Given the description of an element on the screen output the (x, y) to click on. 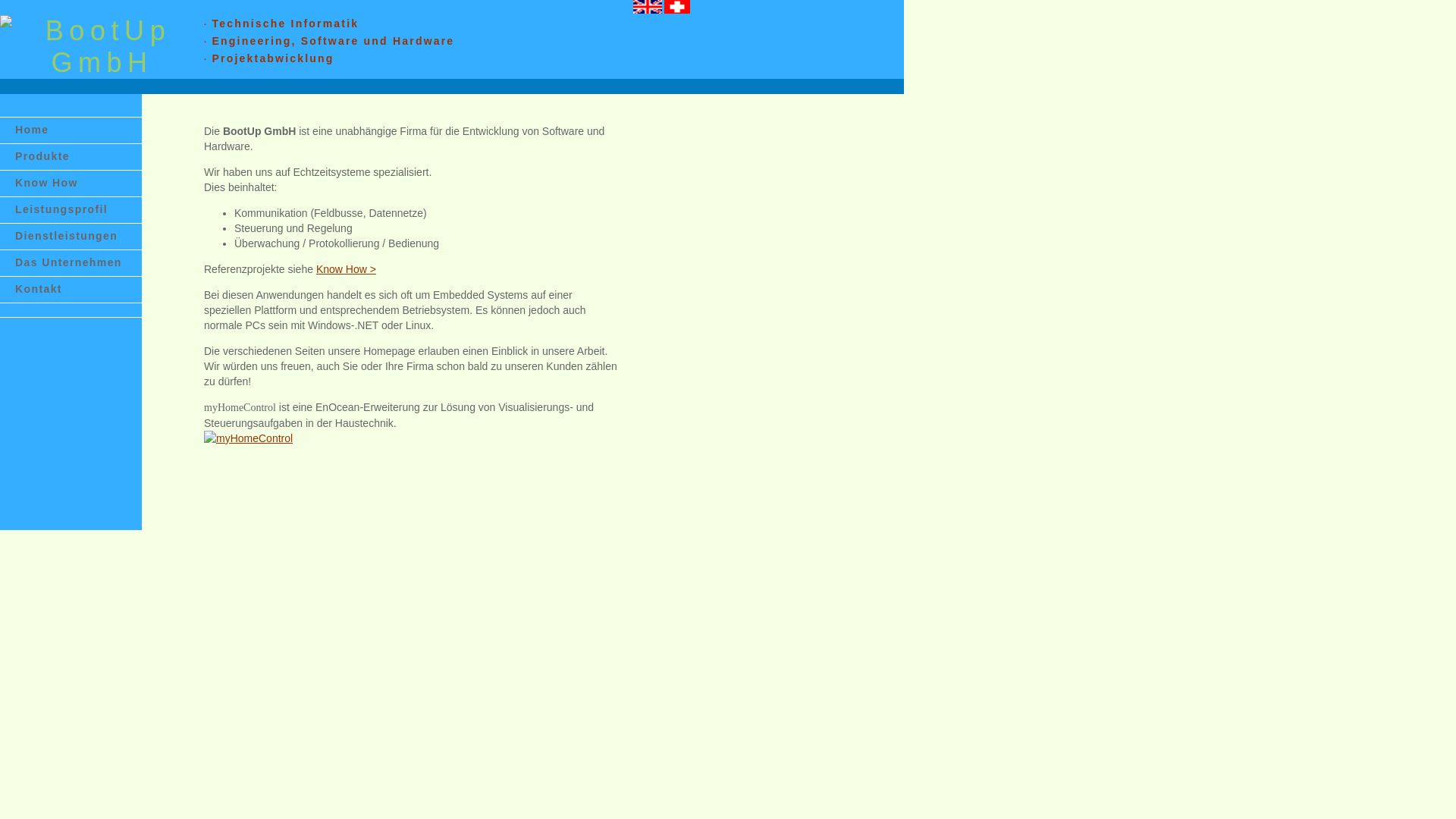
Know How > Element type: text (346, 269)
Leistungsprofil Element type: text (70, 209)
Kontakt Element type: text (70, 289)
Home Element type: text (70, 130)
Produkte Element type: text (70, 156)
Das Unternehmen Element type: text (70, 263)
Know How Element type: text (70, 183)
Dienstleistungen Element type: text (70, 236)
